Given the description of an element on the screen output the (x, y) to click on. 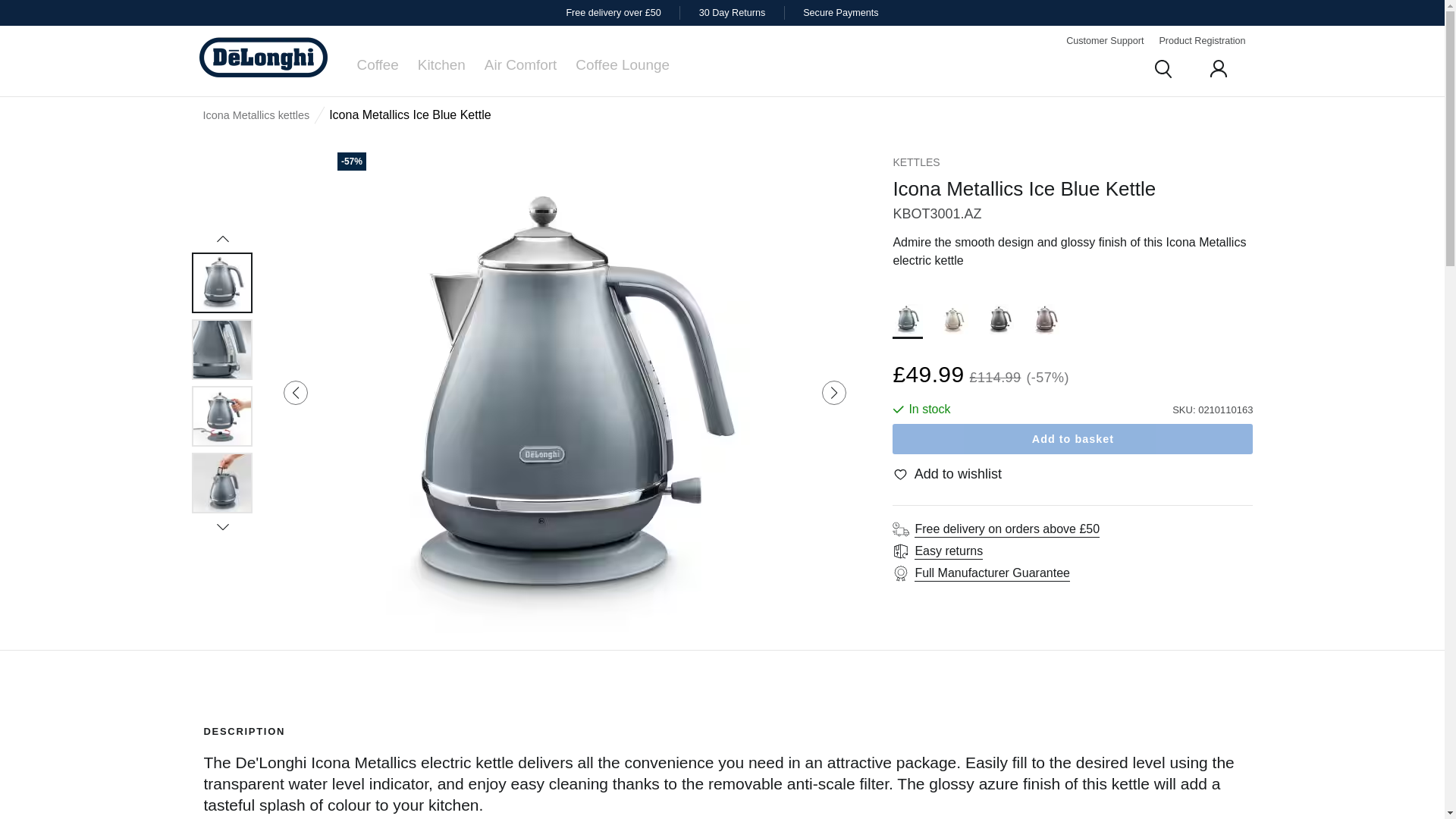
Customer Support (1103, 40)
Coffee Lounge (622, 64)
Kitchen (441, 64)
Coffee (376, 64)
Air Comfort (520, 64)
Product Registration (1201, 40)
